Given the description of an element on the screen output the (x, y) to click on. 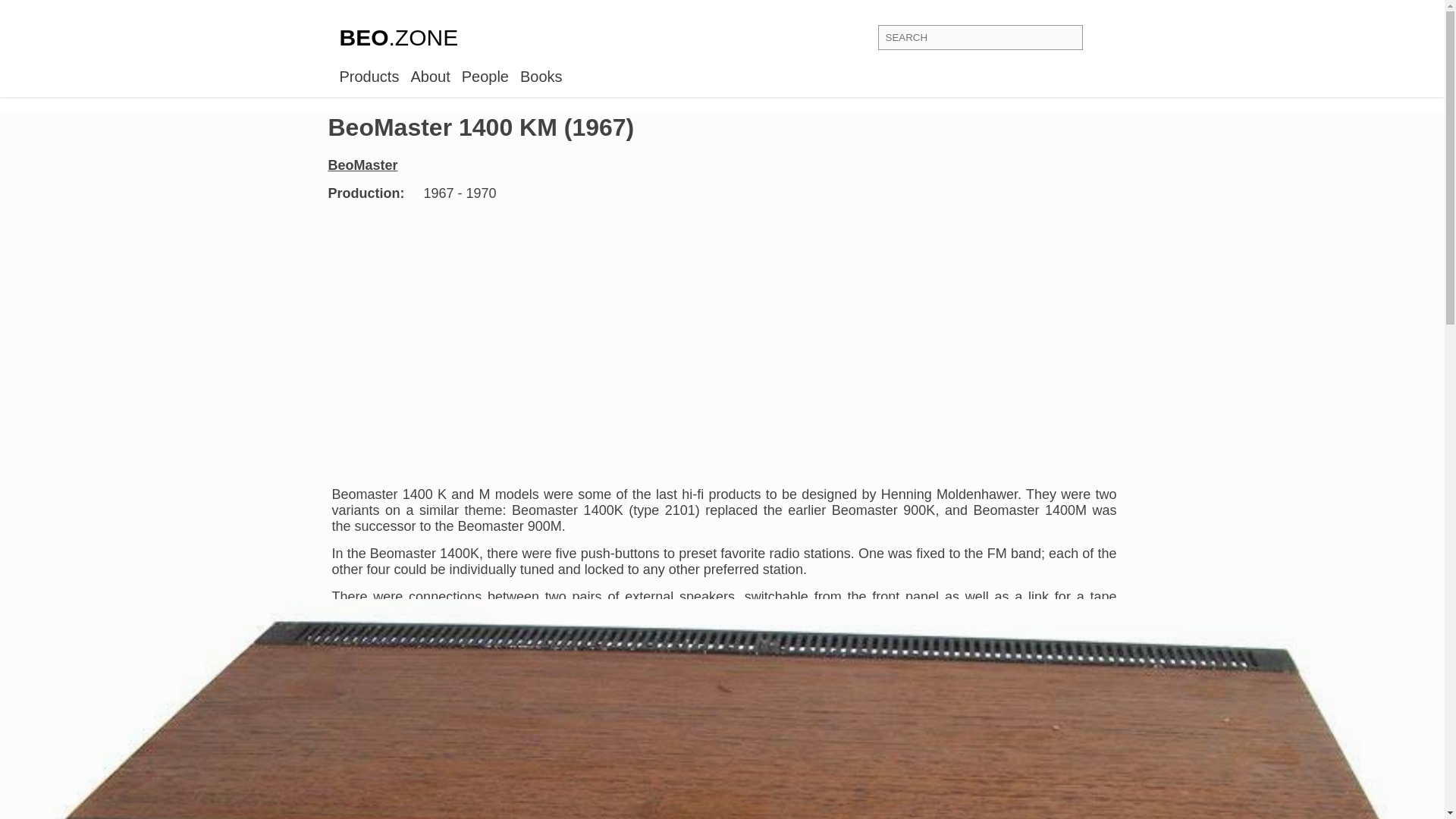
Products (368, 76)
BeoMaster (369, 165)
BEO.ZONE (398, 37)
Books (540, 76)
People (484, 76)
DIN 45500 (723, 679)
About (429, 76)
